Given the description of an element on the screen output the (x, y) to click on. 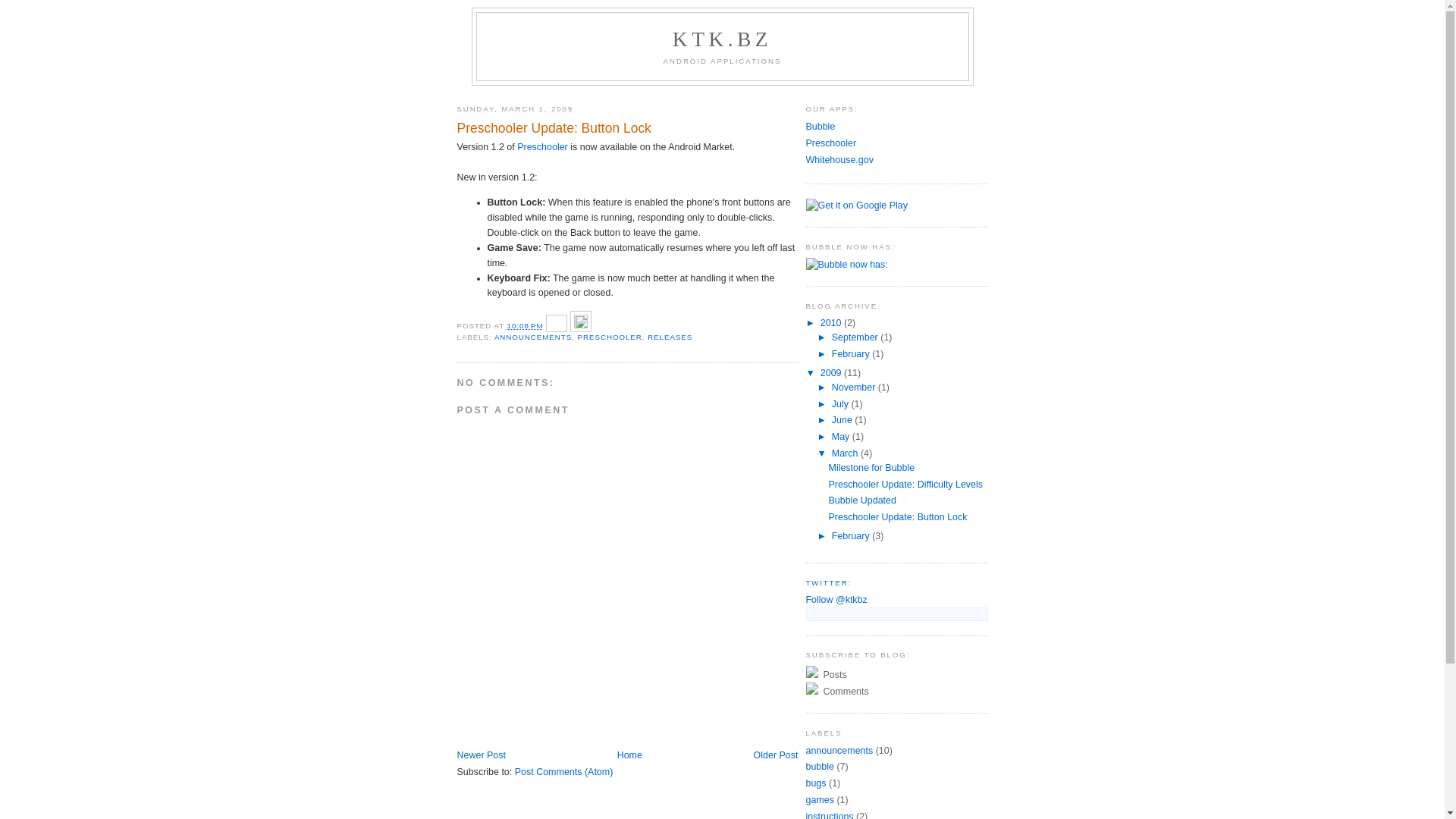
games Element type: text (819, 799)
Home Element type: text (629, 754)
Edit Post Element type: hover (580, 325)
TWITTER: Element type: text (828, 581)
Preschooler Element type: text (830, 143)
June Element type: text (843, 419)
2009 Element type: text (832, 372)
Posts Element type: text (833, 674)
Email Post Element type: hover (558, 325)
Posts Element type: text (896, 673)
November Element type: text (854, 387)
bugs Element type: text (815, 783)
February Element type: text (851, 535)
2010 Element type: text (832, 322)
May Element type: text (841, 436)
Post Comments (Atom) Element type: text (563, 771)
Older Post Element type: text (775, 754)
July Element type: text (841, 403)
Milestone for Bubble Element type: text (871, 467)
March Element type: text (845, 453)
Preschooler Update: Button Lock Element type: text (897, 516)
Preschooler Update: Button Lock Element type: text (626, 128)
Comments Element type: text (844, 691)
February Element type: text (851, 353)
KTK.BZ Element type: text (721, 39)
Whitehouse.gov Element type: text (838, 159)
Follow @ktkbz Element type: text (835, 599)
bubble Element type: text (819, 766)
Bubble Updated Element type: text (861, 500)
RELEASES Element type: text (669, 336)
Comments Element type: text (896, 690)
September Element type: text (855, 337)
Preschooler Element type: text (542, 146)
PRESCHOOLER Element type: text (609, 336)
ANNOUNCEMENTS Element type: text (532, 336)
Preschooler Update: Difficulty Levels Element type: text (905, 484)
Bubble Element type: text (819, 126)
Newer Post Element type: text (480, 754)
announcements Element type: text (838, 749)
